Given the description of an element on the screen output the (x, y) to click on. 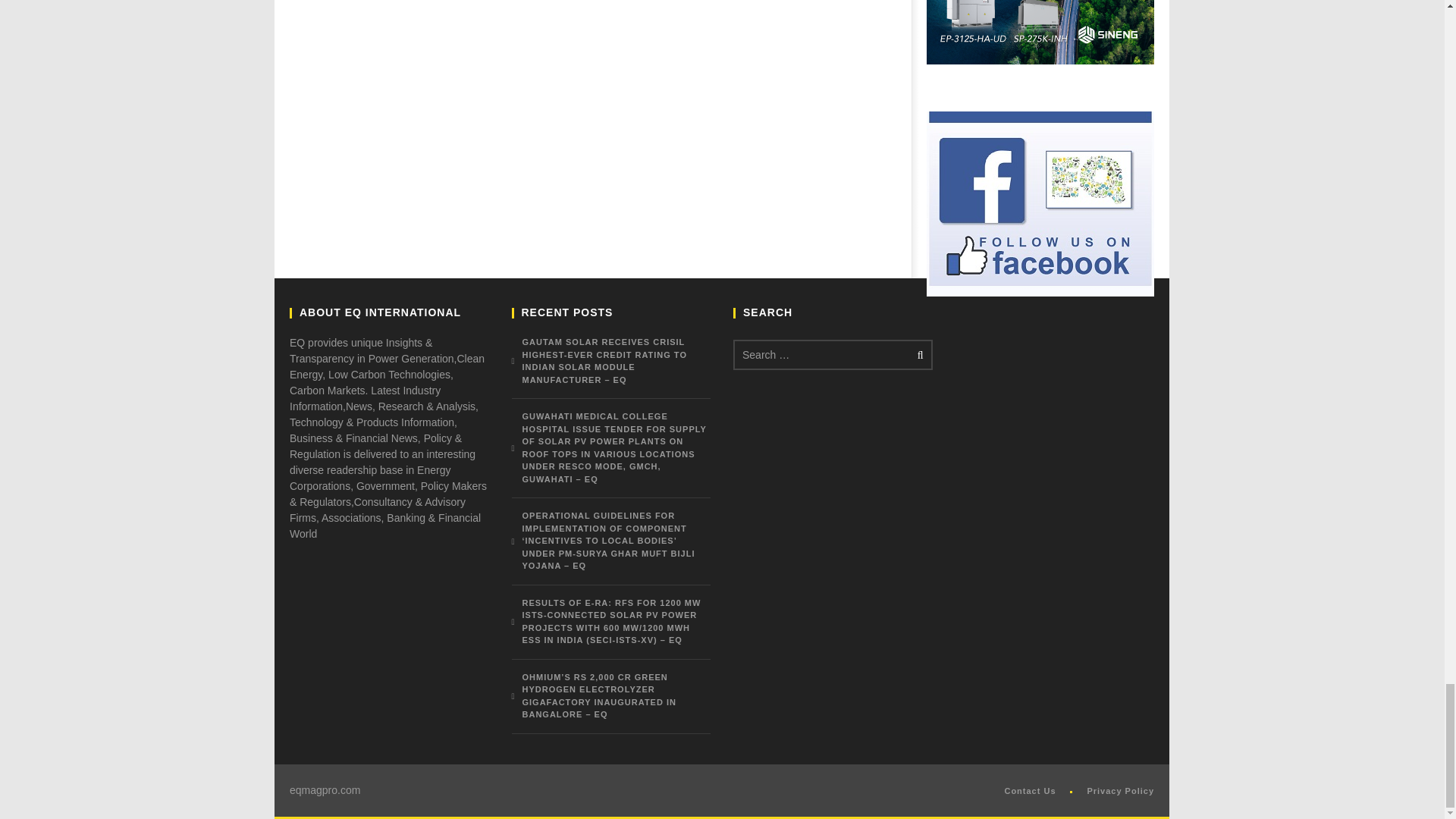
Search (917, 354)
Search (917, 354)
